Given the description of an element on the screen output the (x, y) to click on. 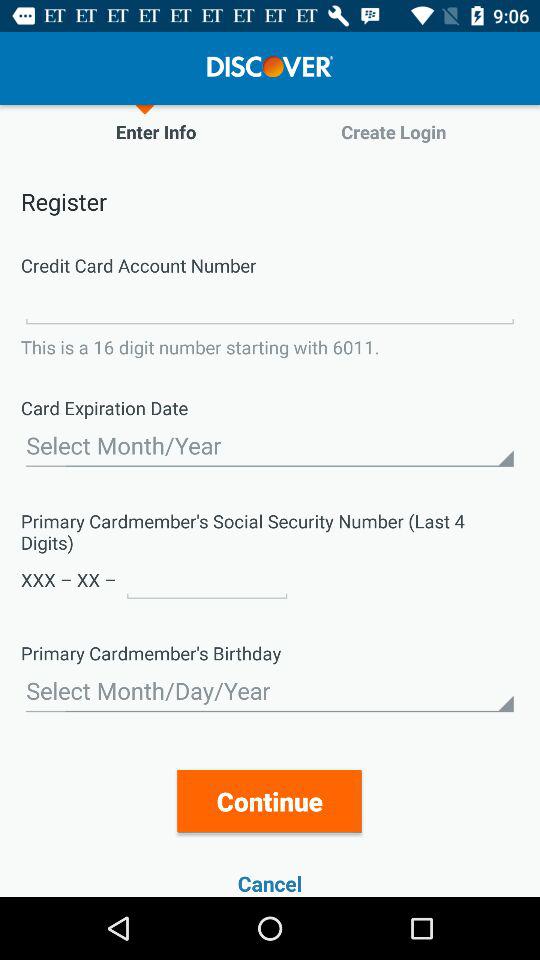
scroll until continue (269, 800)
